Given the description of an element on the screen output the (x, y) to click on. 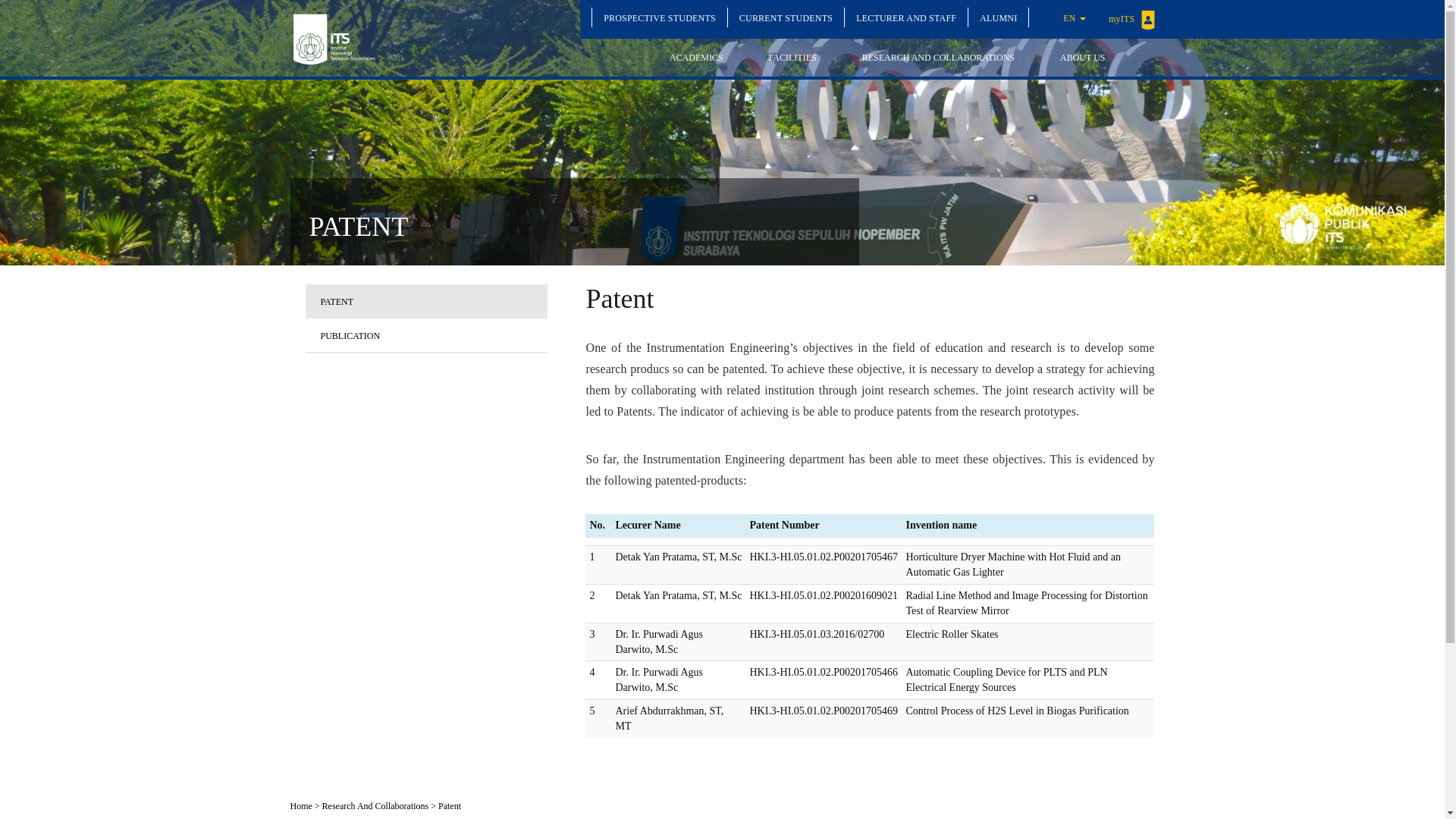
Academics (695, 57)
ACADEMICS (695, 57)
PROSPECTIVE STUDENTS (659, 17)
CURRENT STUDENTS (786, 17)
PATENT (425, 301)
FACILITIES (792, 57)
ALUMNI (997, 17)
EN (1074, 17)
myITS (1131, 19)
About Us (1081, 57)
LECTURER AND STAFF (906, 17)
Patent (449, 805)
Research And Collaborations (375, 805)
Research And Collaborations (938, 57)
Facilities (792, 57)
